Given the description of an element on the screen output the (x, y) to click on. 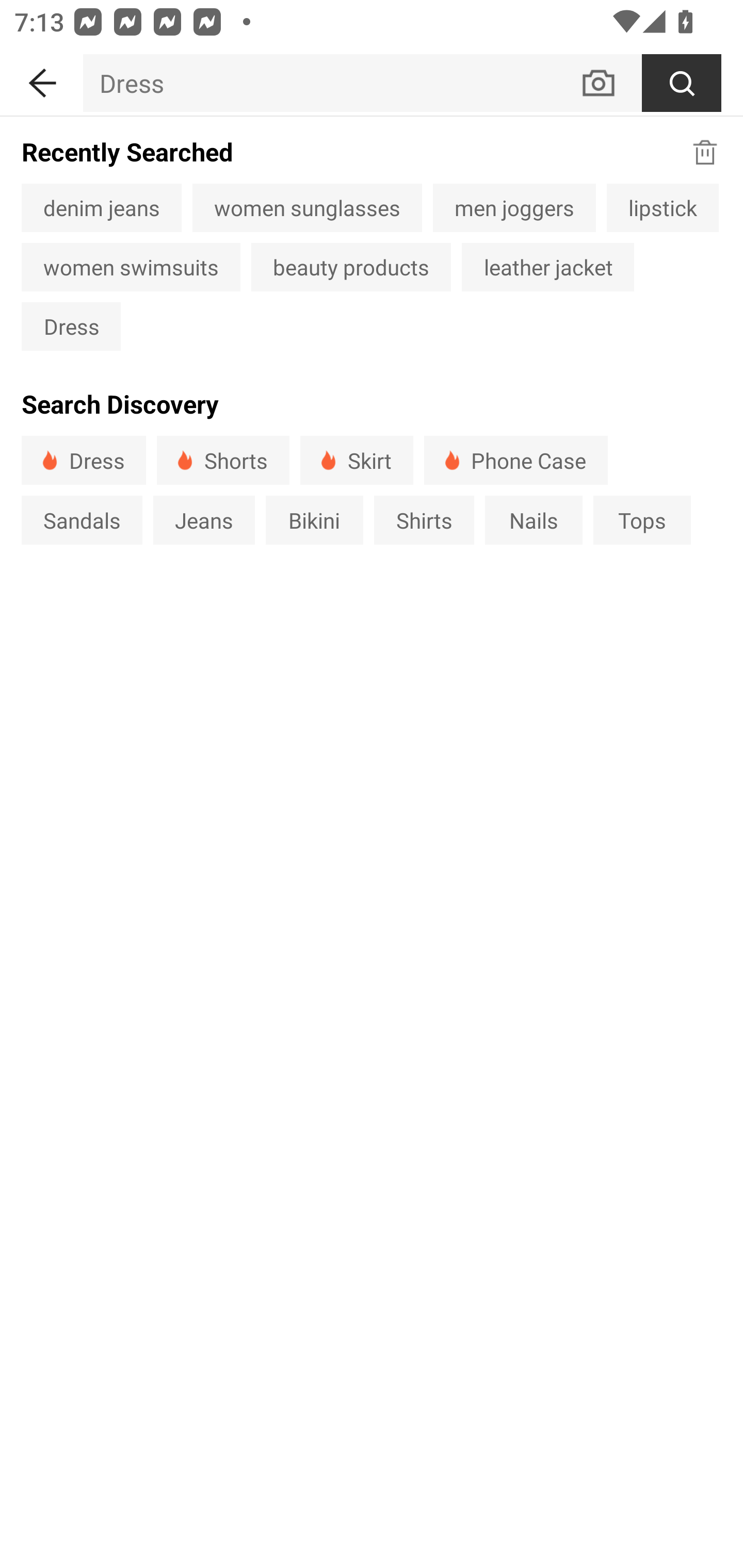
BACK (41, 79)
Dress (330, 82)
denim jeans (101, 207)
women sunglasses (307, 207)
men joggers (514, 207)
lipstick (662, 207)
women swimsuits (130, 267)
beauty products (351, 267)
leather jacket (547, 267)
Dress (70, 326)
Dress (83, 459)
Shorts (222, 459)
Skirt (356, 459)
Phone Case (515, 459)
Sandals (81, 519)
Jeans (203, 519)
Bikini (314, 519)
Shirts (423, 519)
Nails (533, 519)
Tops (641, 519)
